Given the description of an element on the screen output the (x, y) to click on. 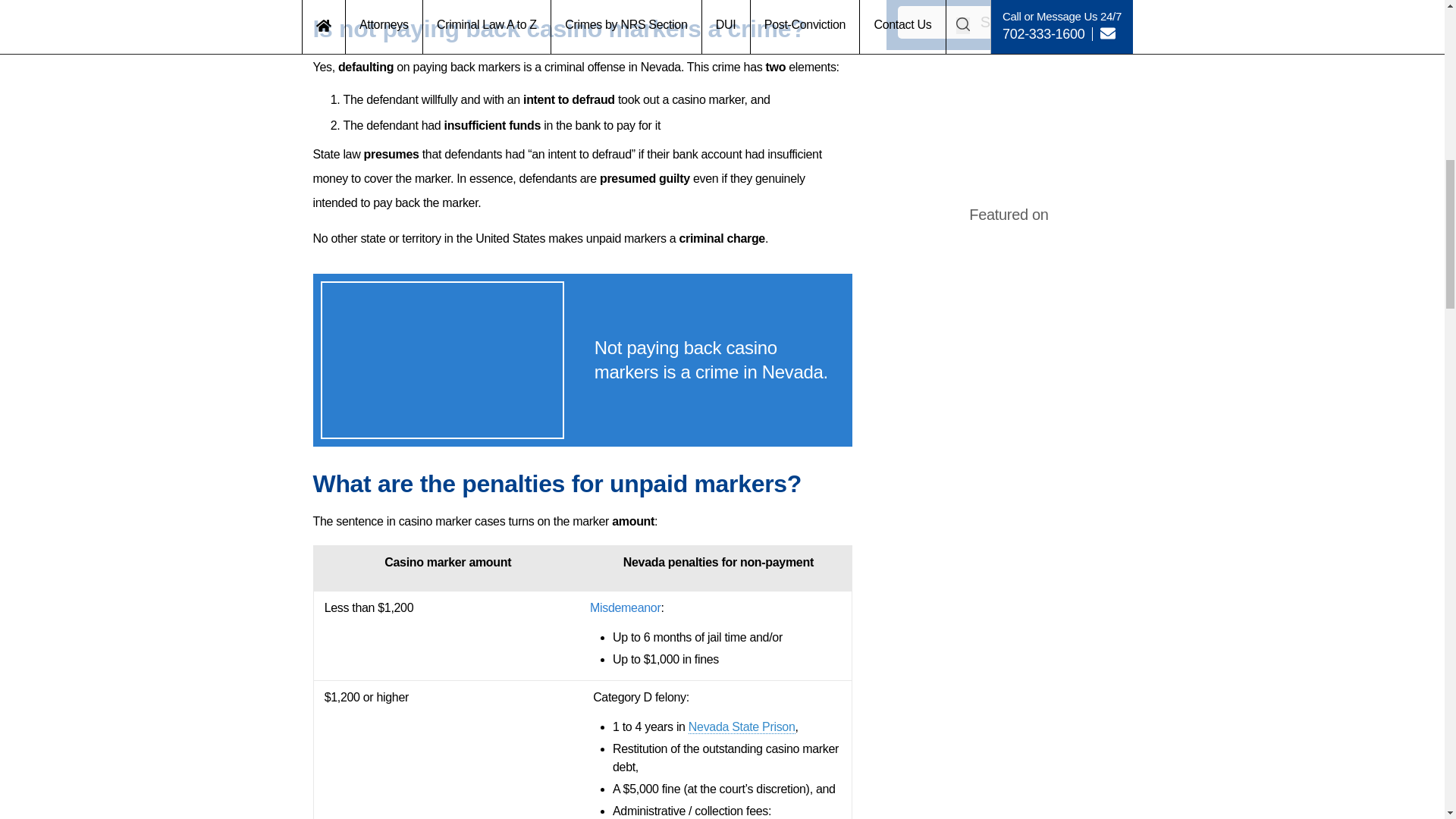
Misdemeanor (625, 607)
Submit (1009, 21)
Submit (1009, 21)
Nevada State Prison (741, 726)
